Given the description of an element on the screen output the (x, y) to click on. 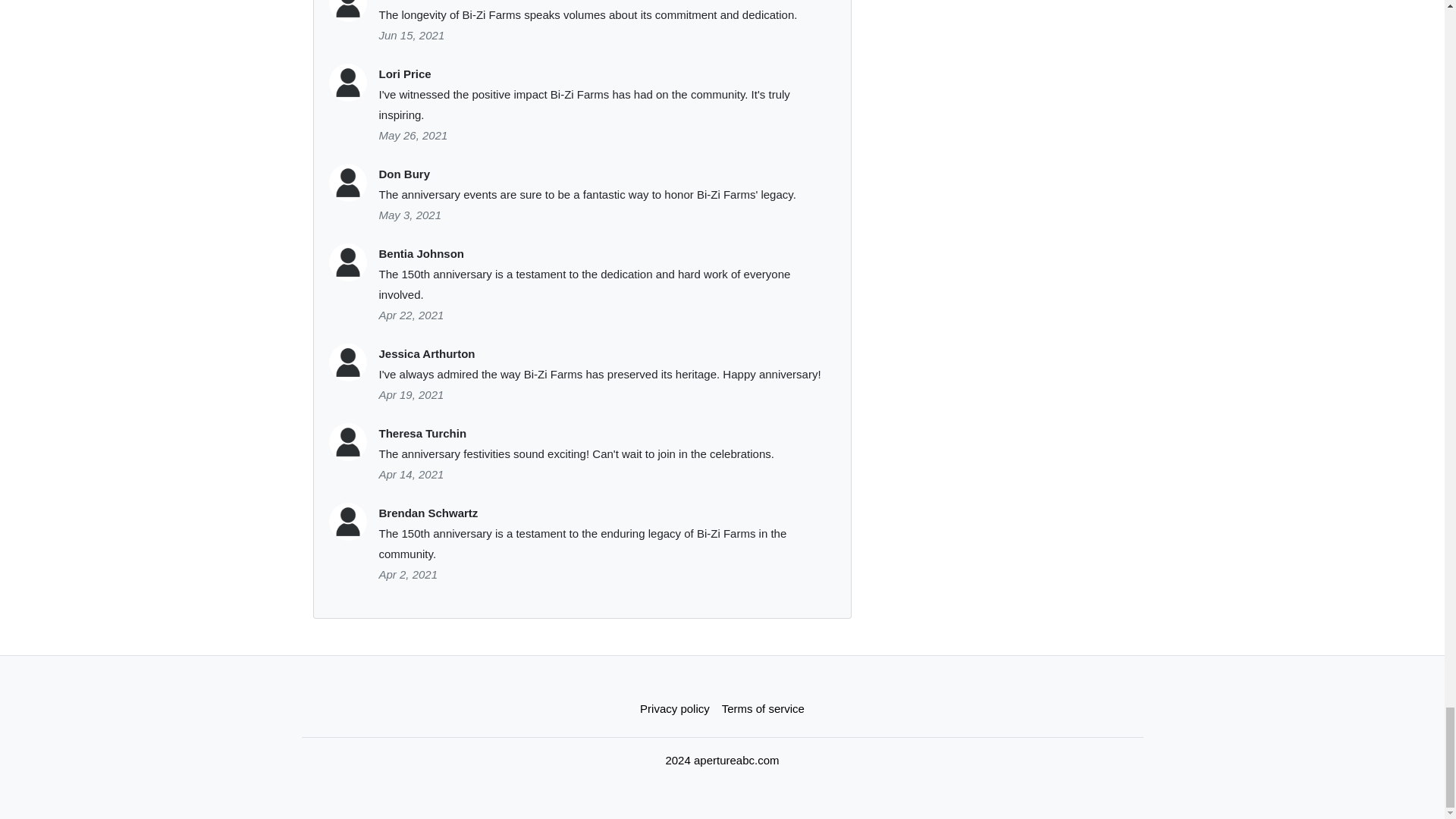
Privacy policy (674, 708)
Terms of service (763, 708)
